Given the description of an element on the screen output the (x, y) to click on. 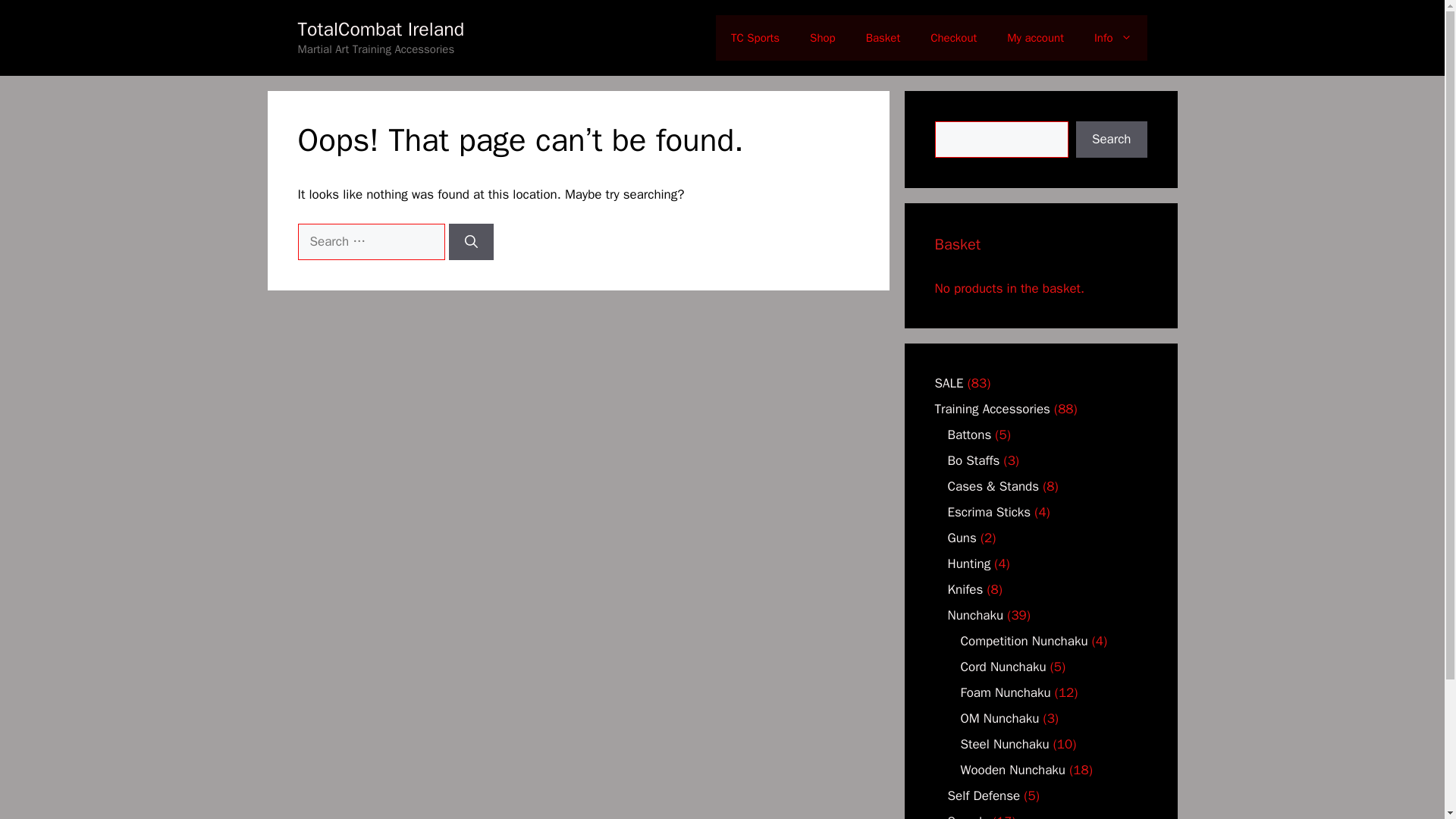
Knifes (965, 589)
Escrima Sticks (988, 512)
Cord Nunchaku (1002, 666)
Wooden Nunchaku (1012, 770)
SALE (948, 383)
Bo Staffs (973, 460)
Search for: (370, 241)
Search (1111, 139)
Competition Nunchaku (1023, 641)
Info (1112, 37)
